Given the description of an element on the screen output the (x, y) to click on. 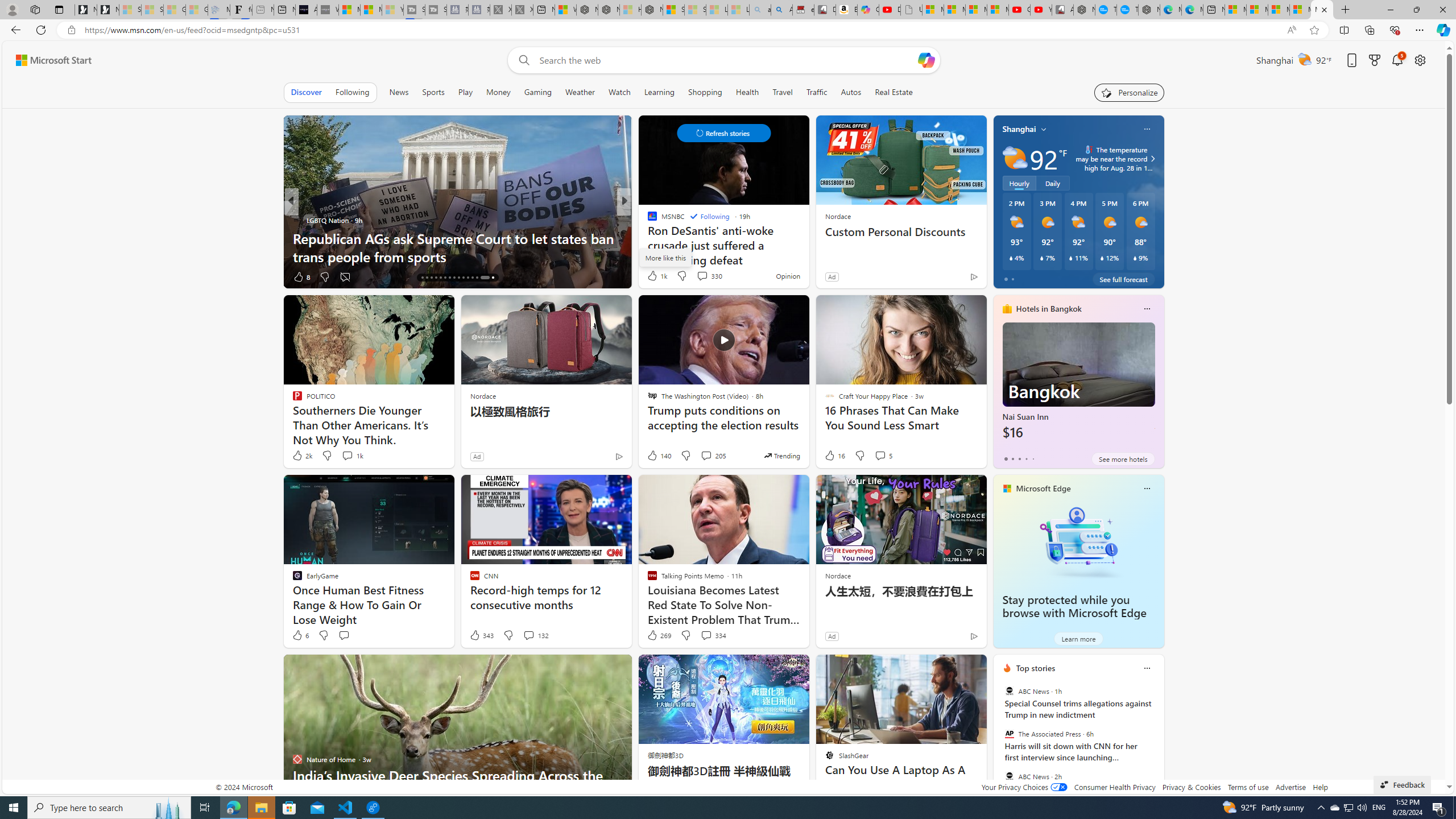
LGBTQ Nation (296, 219)
Stay protected while you browse with Microsoft Edge (1077, 541)
AutomationID: tab-18 (431, 277)
